Given the description of an element on the screen output the (x, y) to click on. 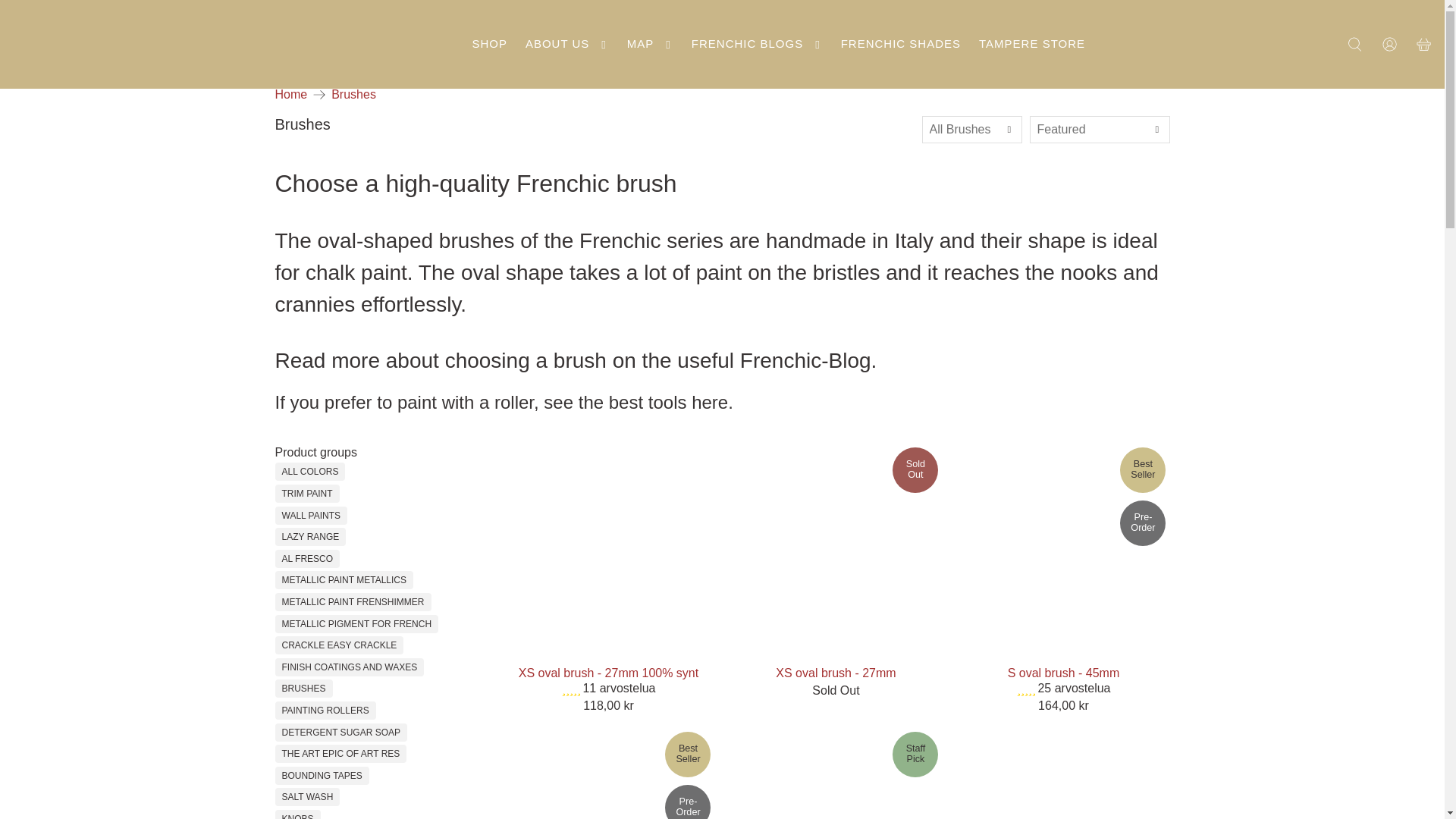
see the best tools here. (638, 402)
WALL PAINTS (311, 515)
ABOUT US (566, 44)
Brushes (353, 94)
about choosing a brush (496, 360)
Frenchic Finland (291, 94)
CRACKLE EASY CRACKLE (339, 644)
FRENCHIC SHADES (900, 44)
ALL COLORS (310, 471)
Brushes (353, 94)
Home (291, 94)
METALLIC PIGMENT FOR FRENCH (357, 623)
METALLIC PAINT METALLICS (344, 580)
TAMPERE STORE (1031, 44)
AL FRESCO (307, 558)
